Given the description of an element on the screen output the (x, y) to click on. 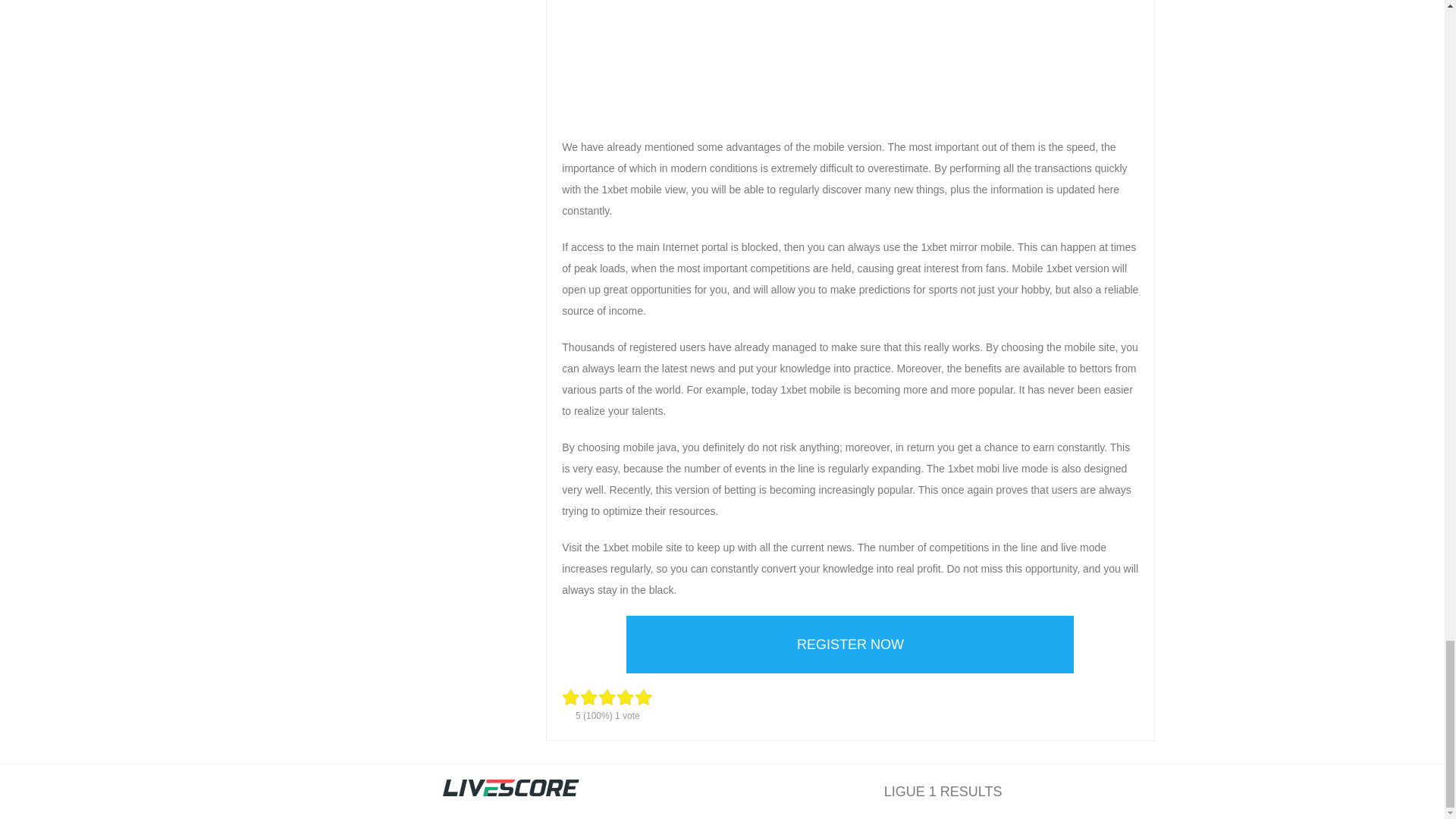
Benefits 1xbet mobile (850, 60)
LIGUE 1 RESULTS (943, 791)
REGISTER NOW (850, 644)
